Given the description of an element on the screen output the (x, y) to click on. 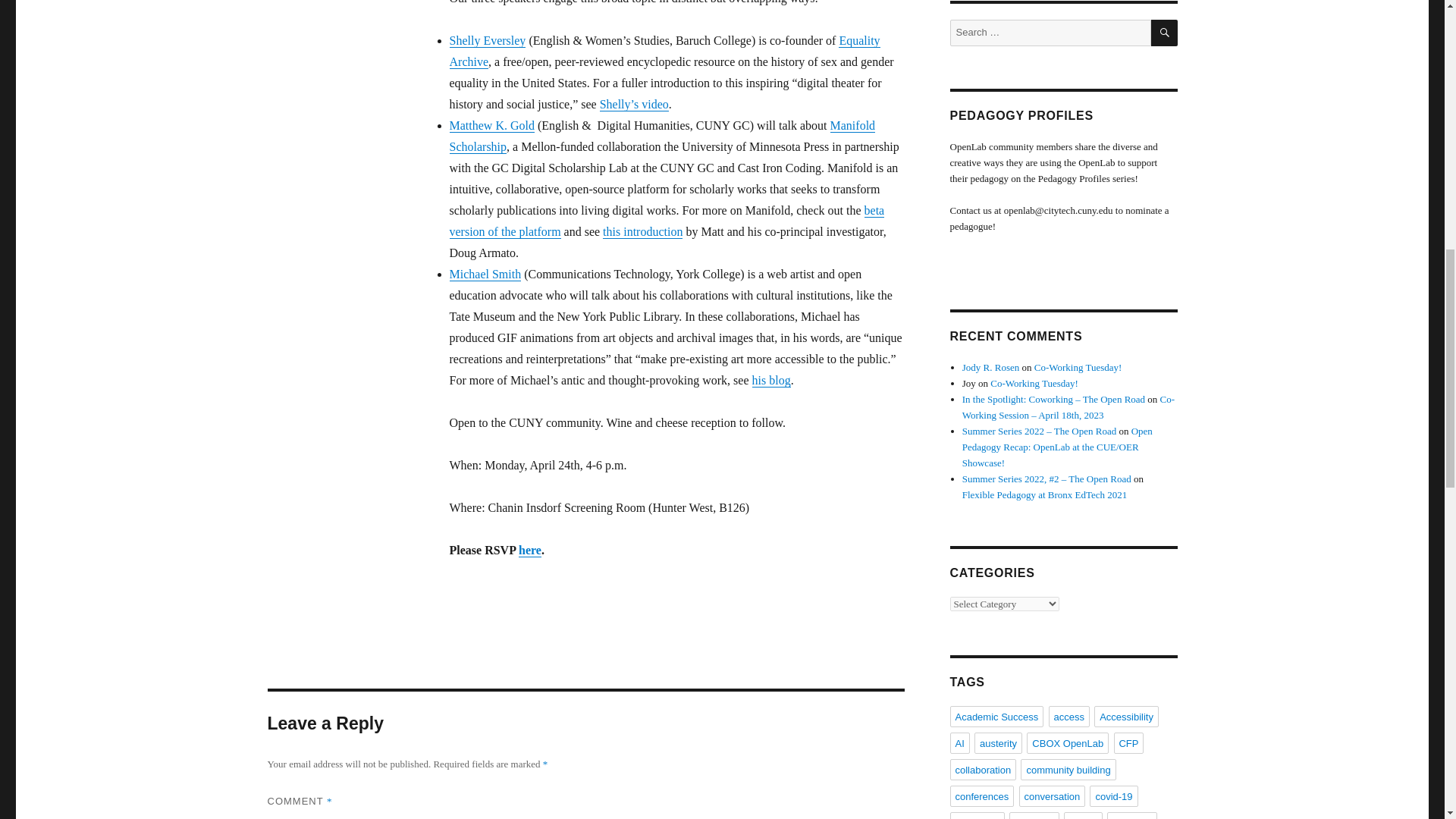
Shelly Eversley (486, 39)
Manifold Scholarship (661, 134)
beta version of the platform (665, 220)
Equality Archive (663, 50)
Matthew K. Gold (491, 124)
